Given the description of an element on the screen output the (x, y) to click on. 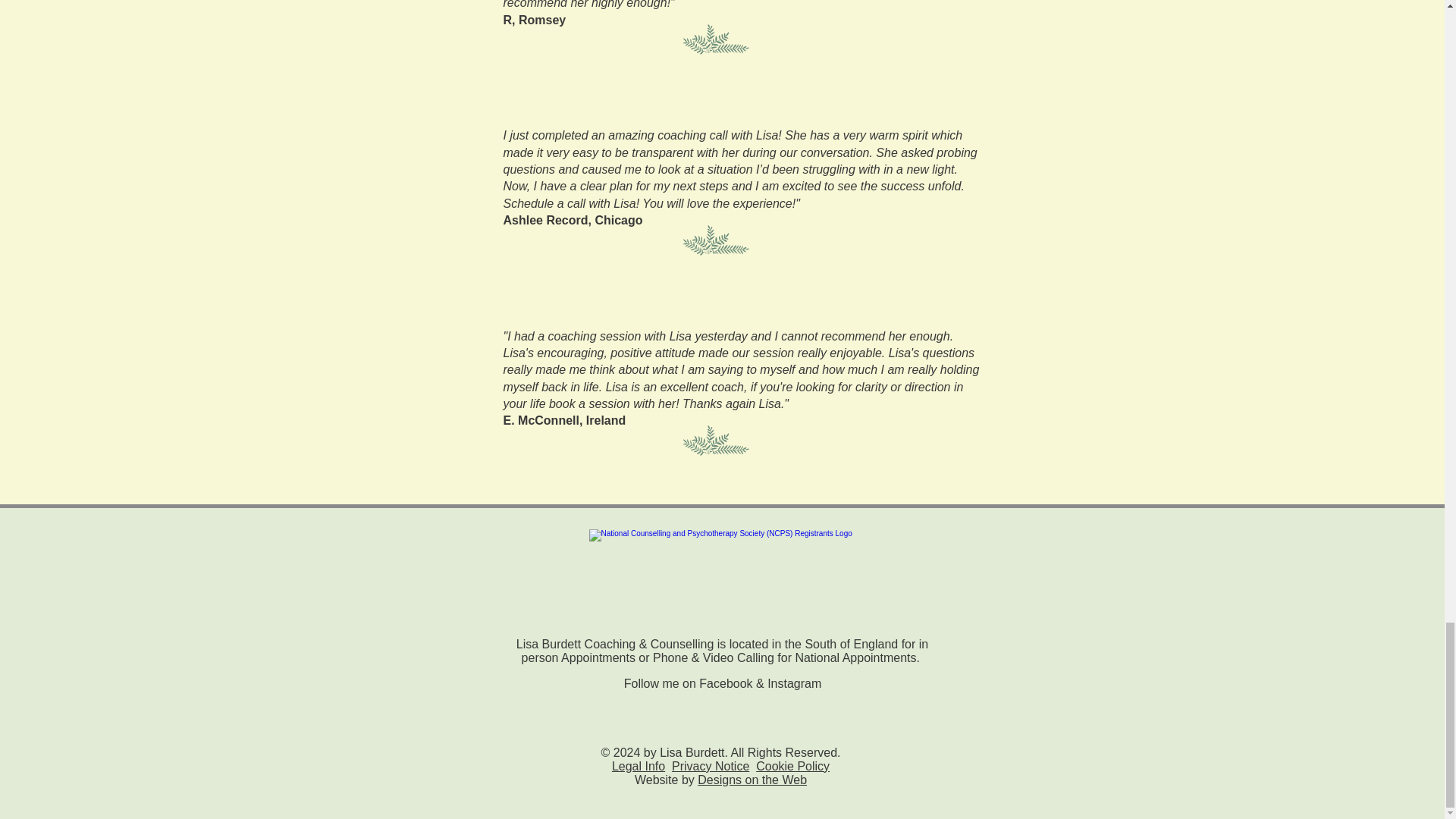
Cookie Policy (792, 766)
Privacy Notice (710, 766)
Legal Info (638, 766)
Designs on the Web (751, 779)
